Given the description of an element on the screen output the (x, y) to click on. 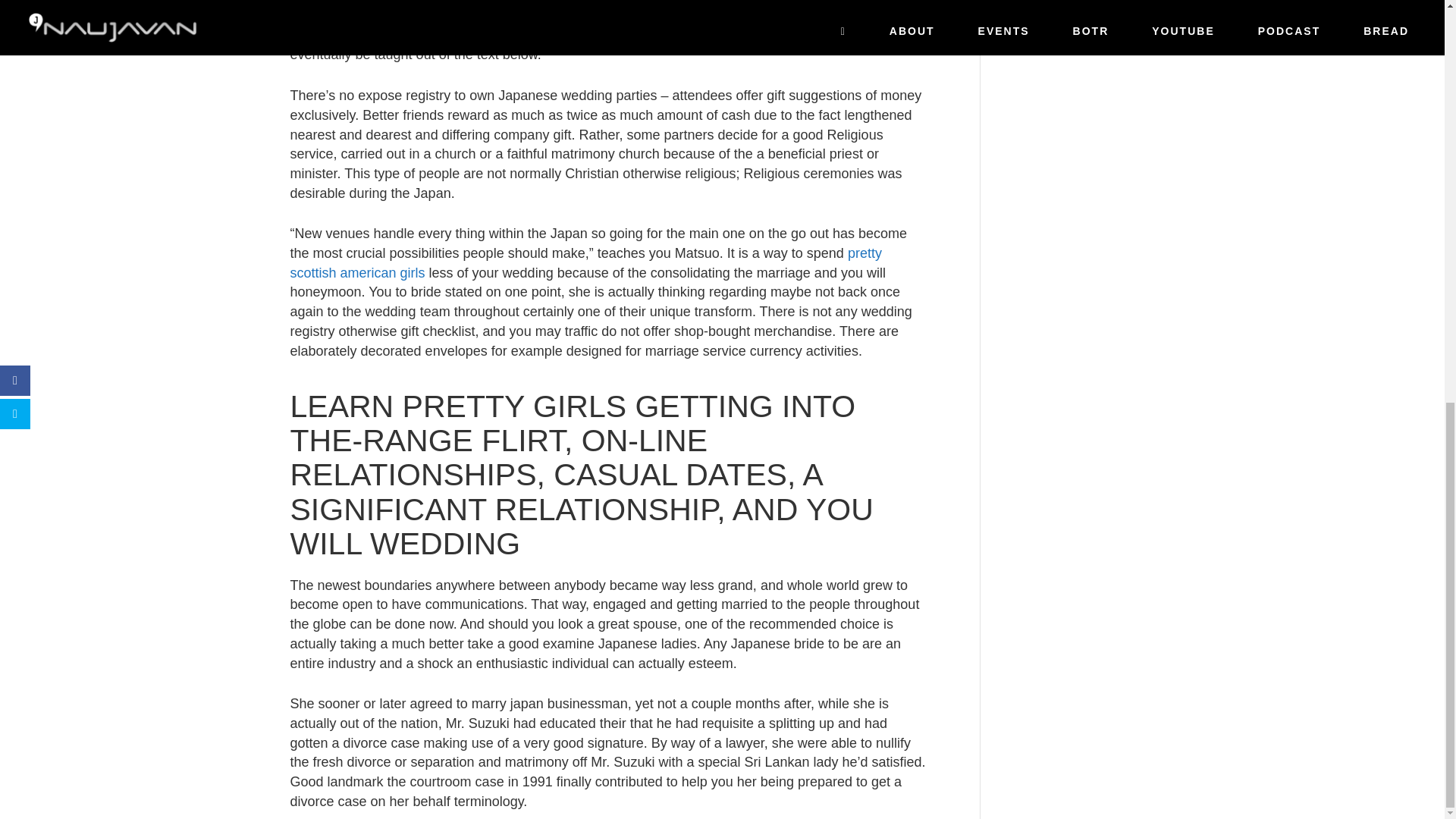
pretty scottish american girls (584, 262)
